Given the description of an element on the screen output the (x, y) to click on. 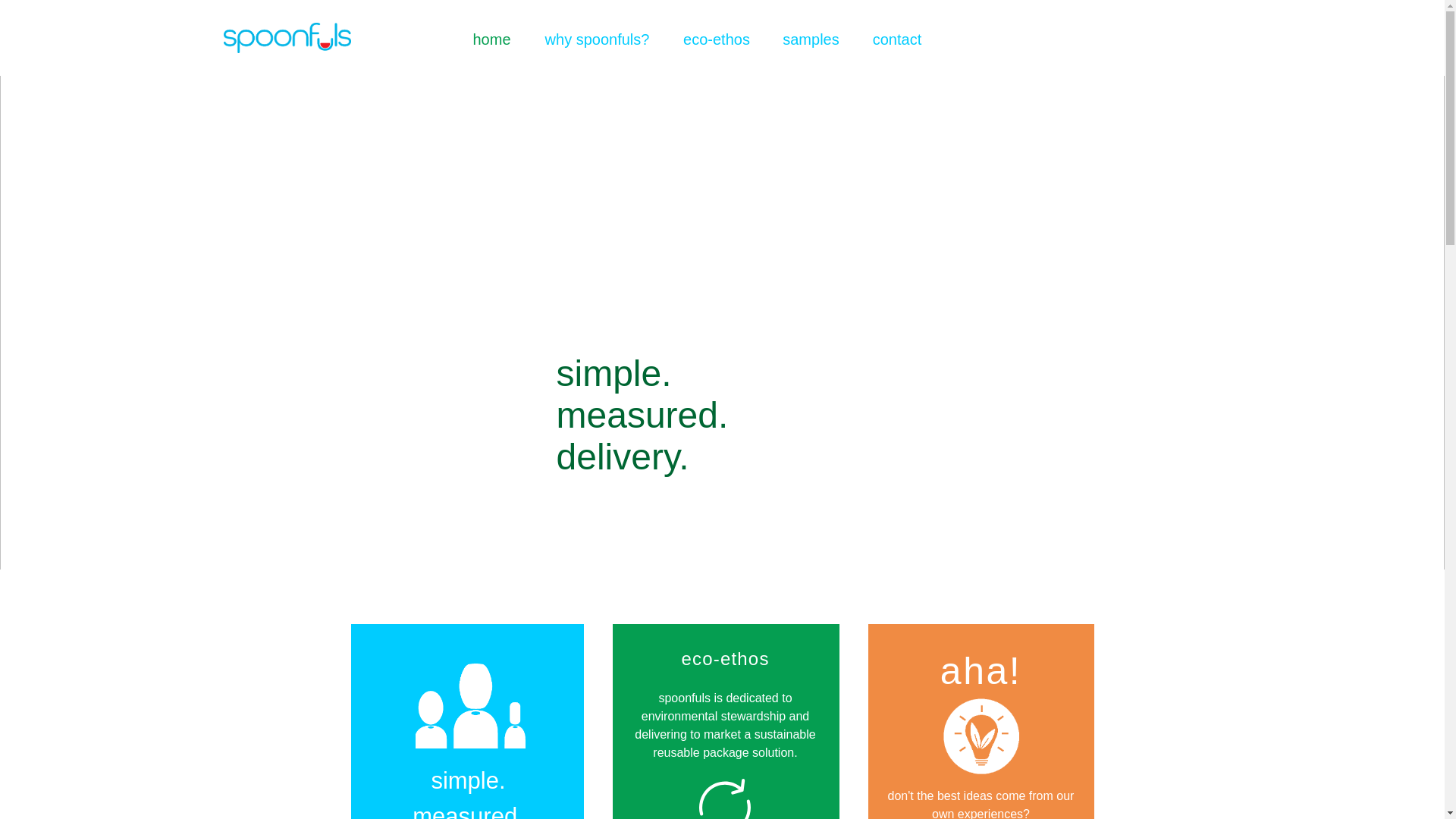
why spoonfuls? (596, 36)
home (492, 36)
samples (810, 36)
contact (896, 36)
eco-ethos (716, 36)
